Given the description of an element on the screen output the (x, y) to click on. 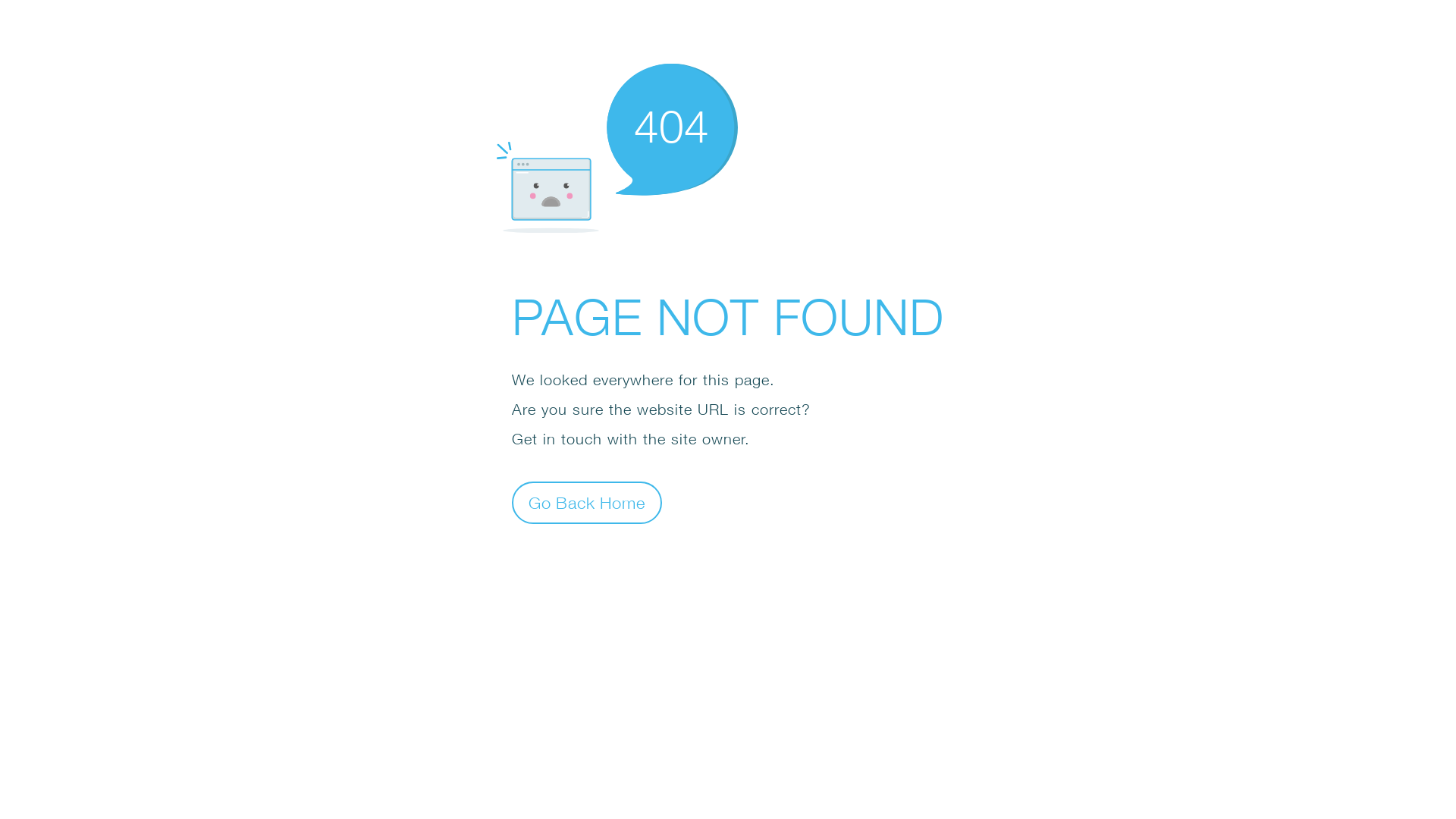
Go Back Home Element type: text (586, 502)
